Given the description of an element on the screen output the (x, y) to click on. 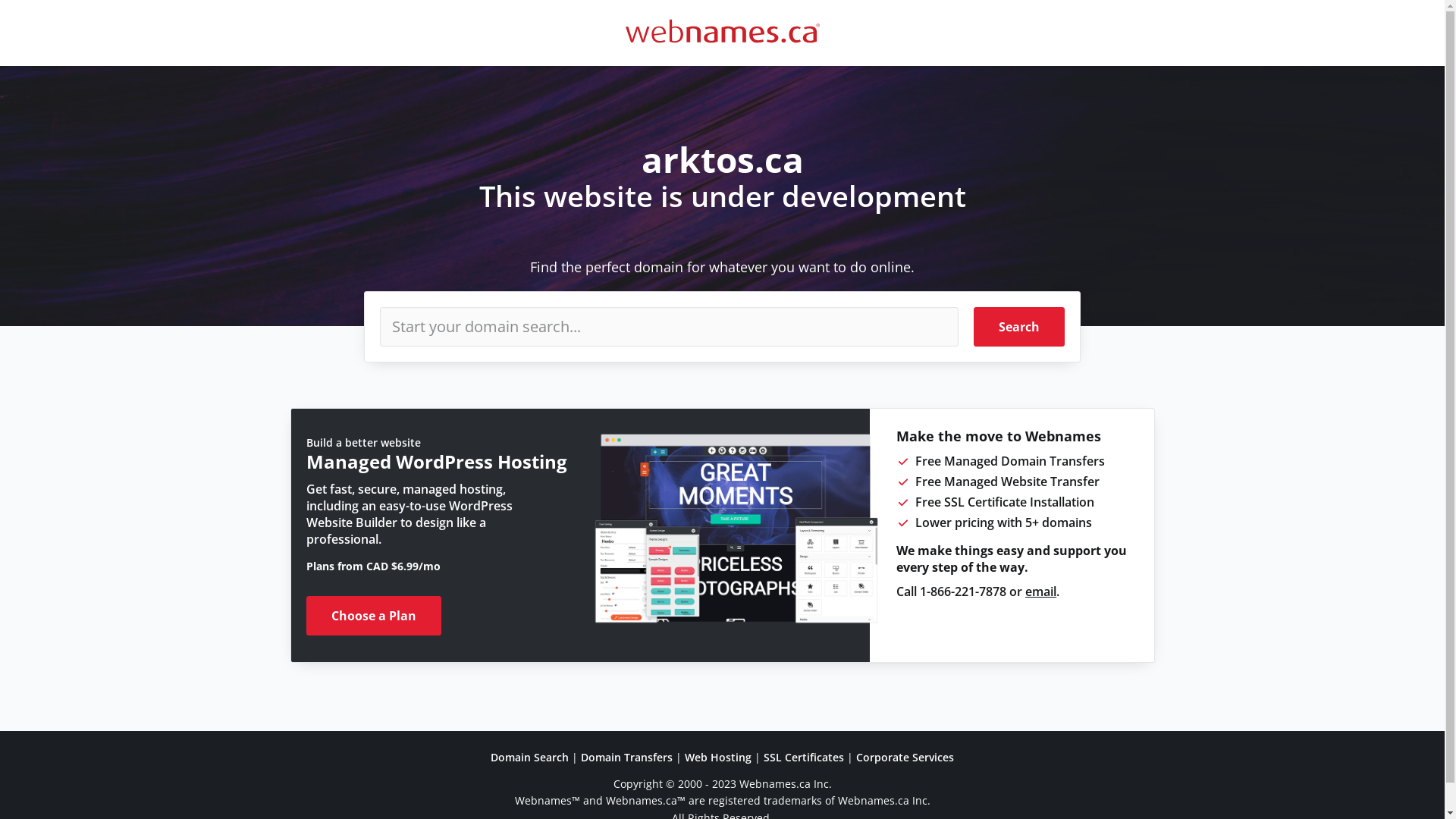
email Element type: text (1040, 591)
1-866-221-7878 Element type: text (962, 591)
Domain Search Element type: text (529, 756)
Corporate Services Element type: text (904, 756)
Search Element type: text (1018, 326)
Web Hosting Element type: text (717, 756)
Choose a Plan Element type: text (373, 615)
Domain Transfers Element type: text (626, 756)
SSL Certificates Element type: text (803, 756)
